Given the description of an element on the screen output the (x, y) to click on. 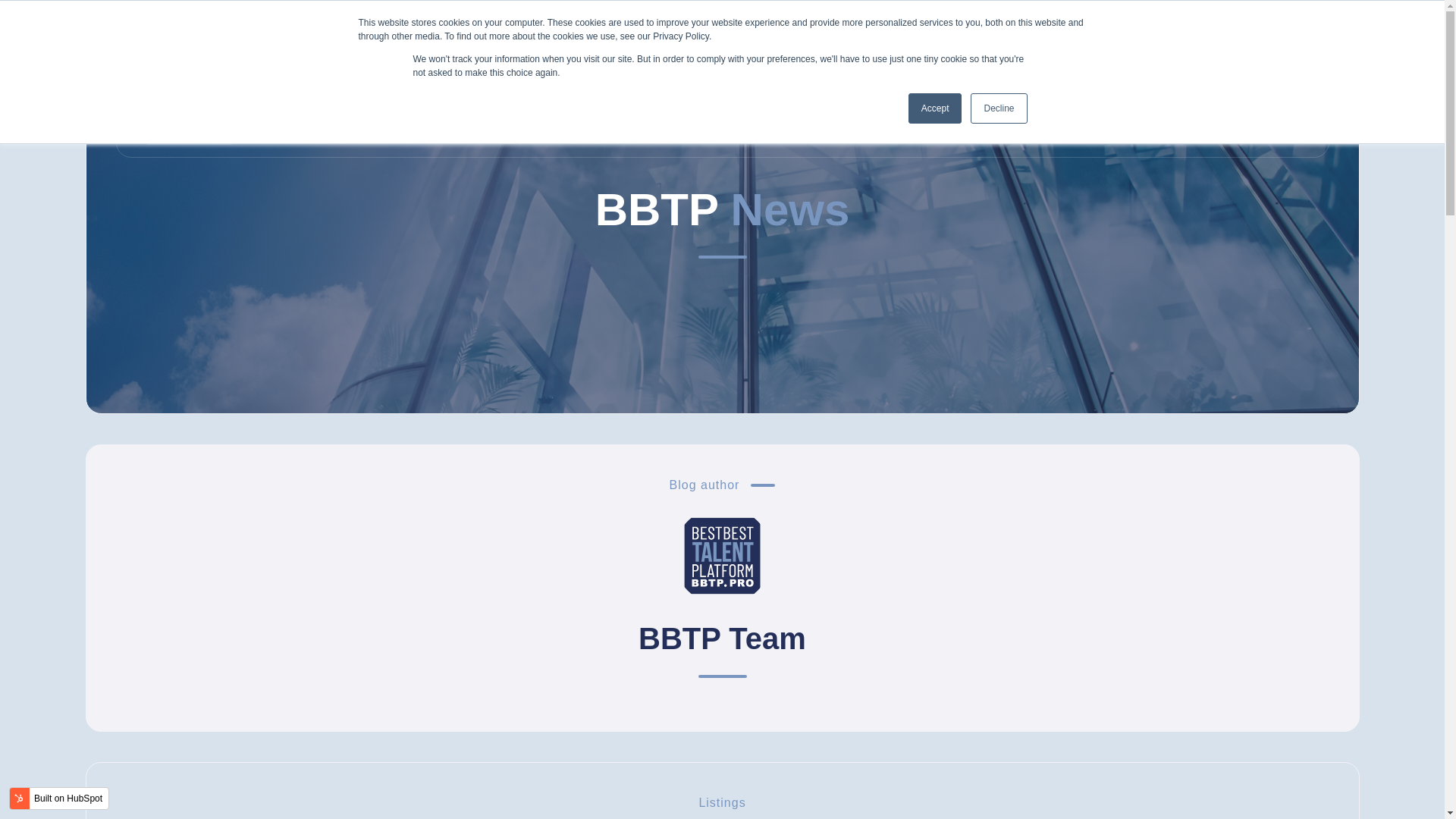
BBTP News (1257, 102)
Contact (1156, 101)
Accept (935, 108)
Decline (998, 108)
Companies (914, 101)
Talent (998, 101)
Partners (1074, 101)
Home (831, 101)
